Given the description of an element on the screen output the (x, y) to click on. 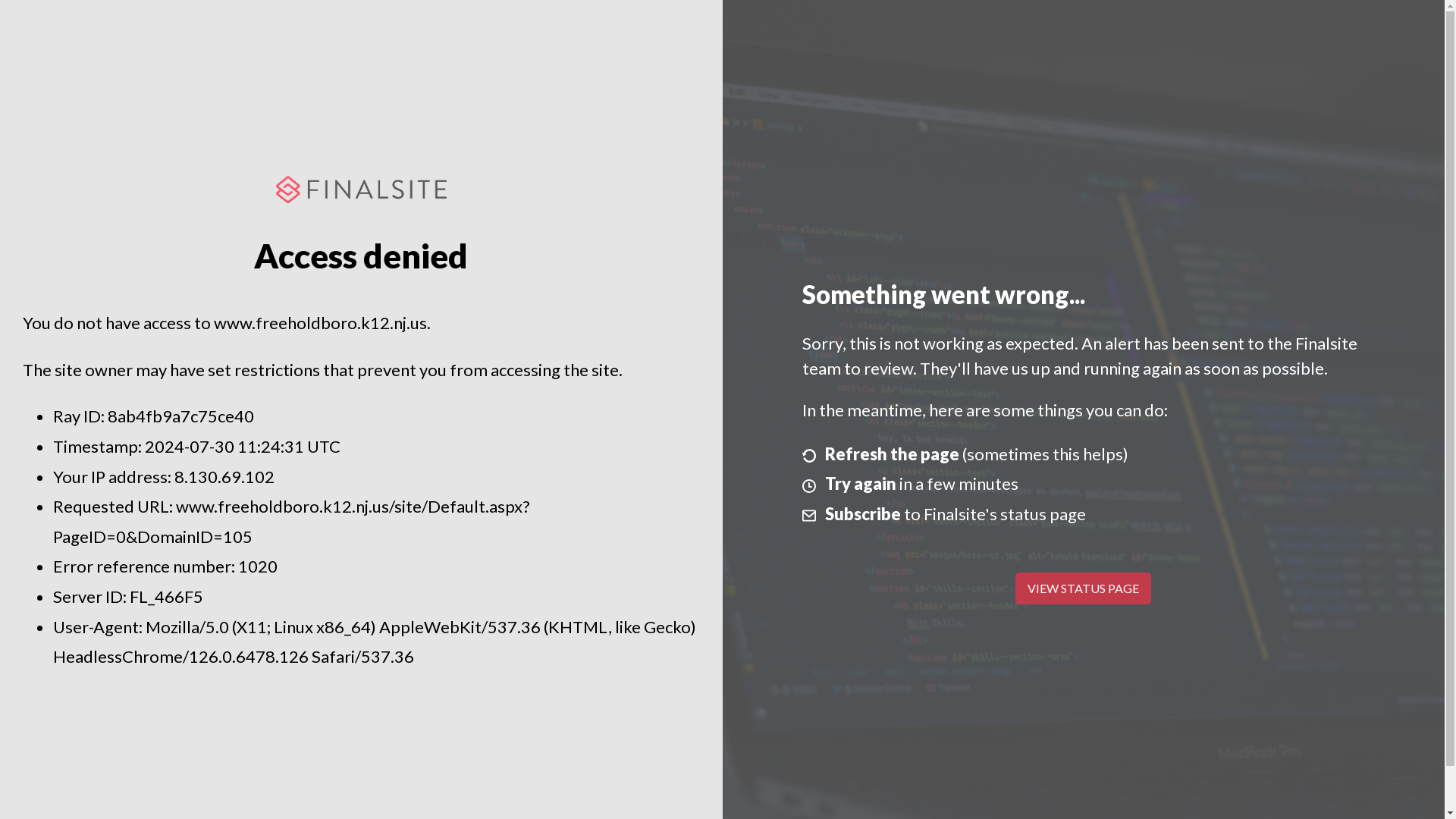
VIEW STATUS PAGE (1082, 588)
